Given the description of an element on the screen output the (x, y) to click on. 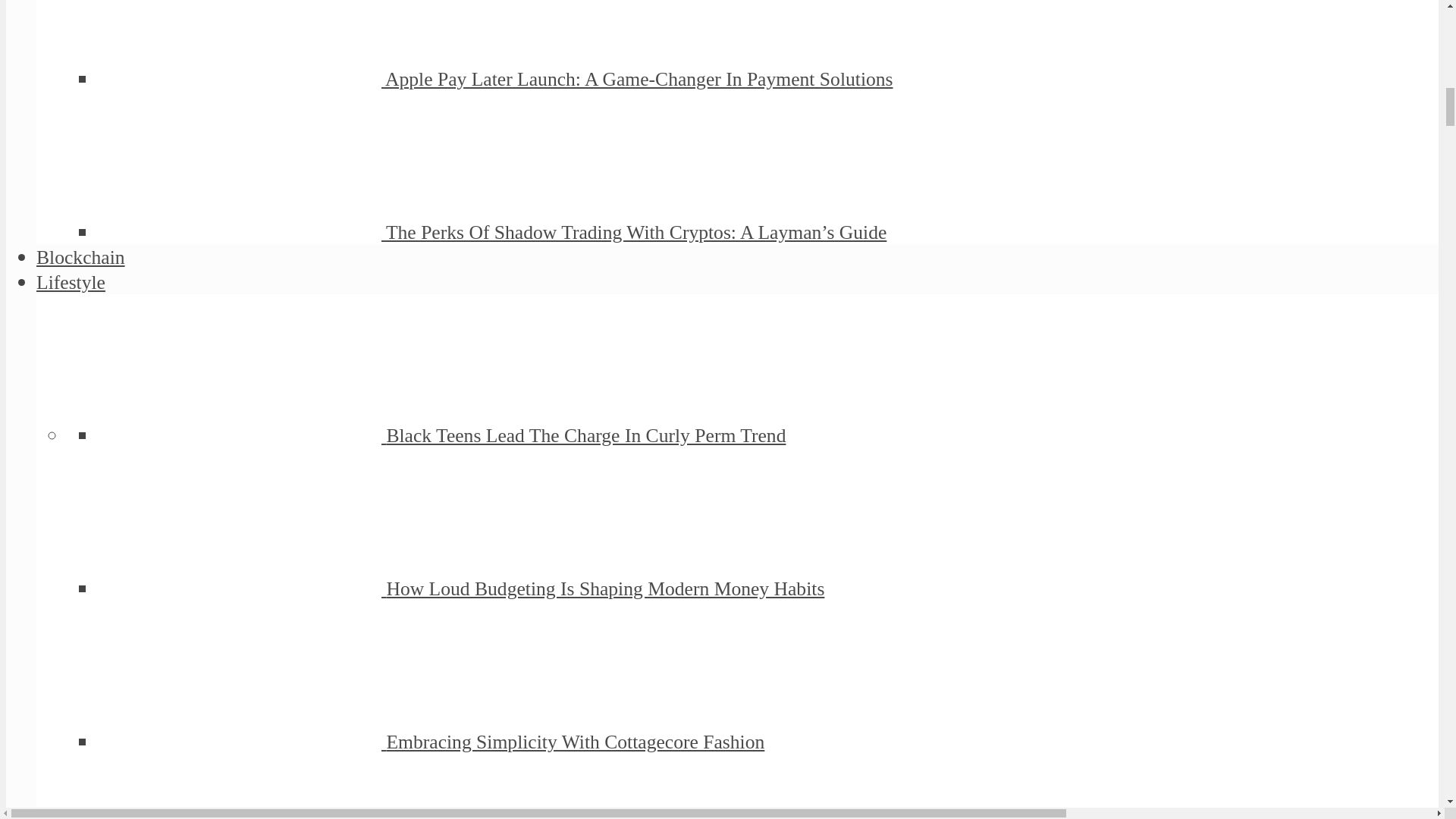
Lifestyle (70, 282)
Blockchain (80, 257)
How Loud Budgeting Is Shaping Modern Money Habits (604, 588)
Black Teens Lead The Charge In Curly Perm Trend (585, 435)
Apple Pay Later Launch: A Game-Changer In Payment Solutions (639, 78)
Embracing Simplicity With Cottagecore Fashion (574, 741)
